Given the description of an element on the screen output the (x, y) to click on. 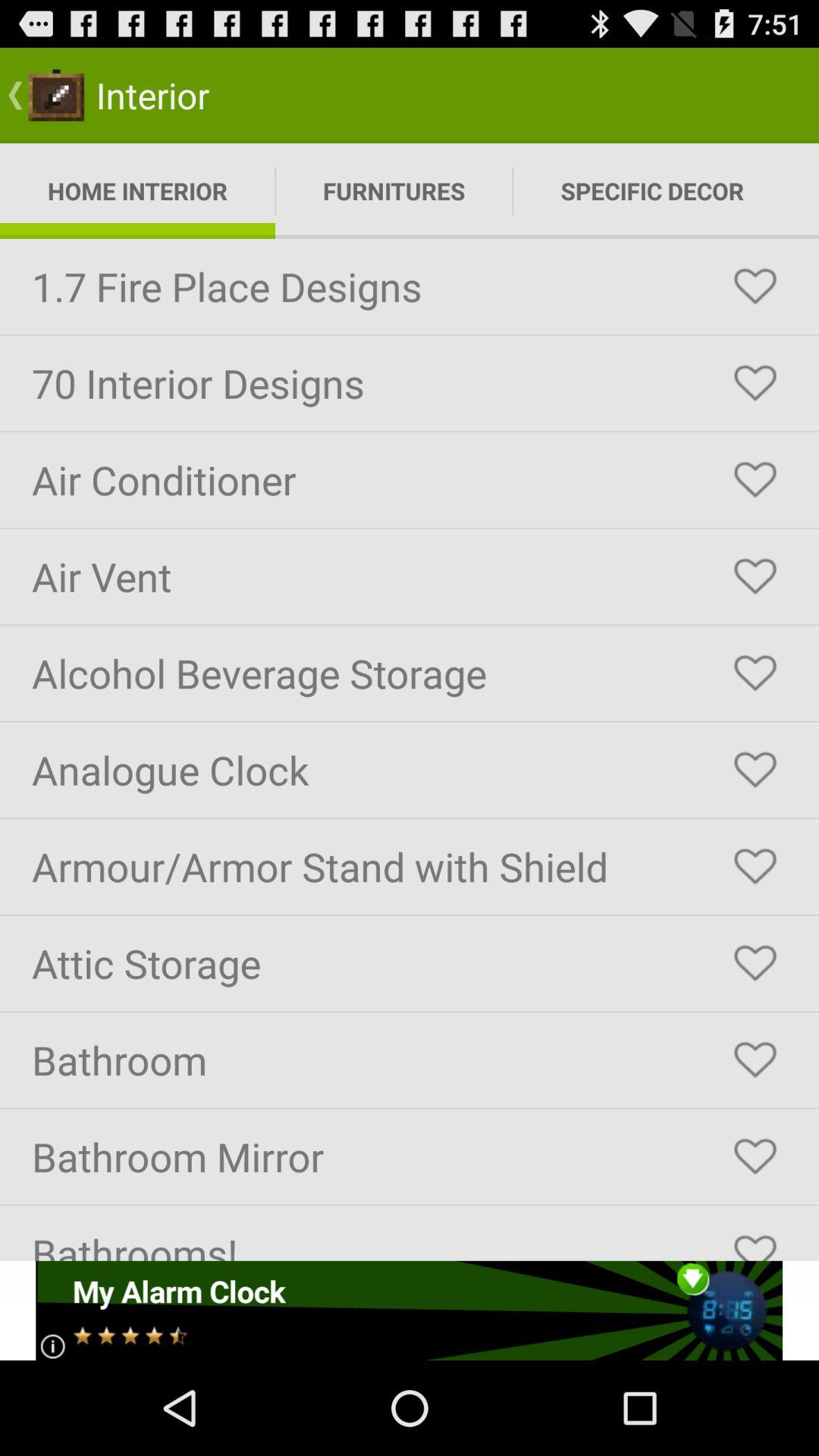
like the corresponding home interior (755, 866)
